Given the description of an element on the screen output the (x, y) to click on. 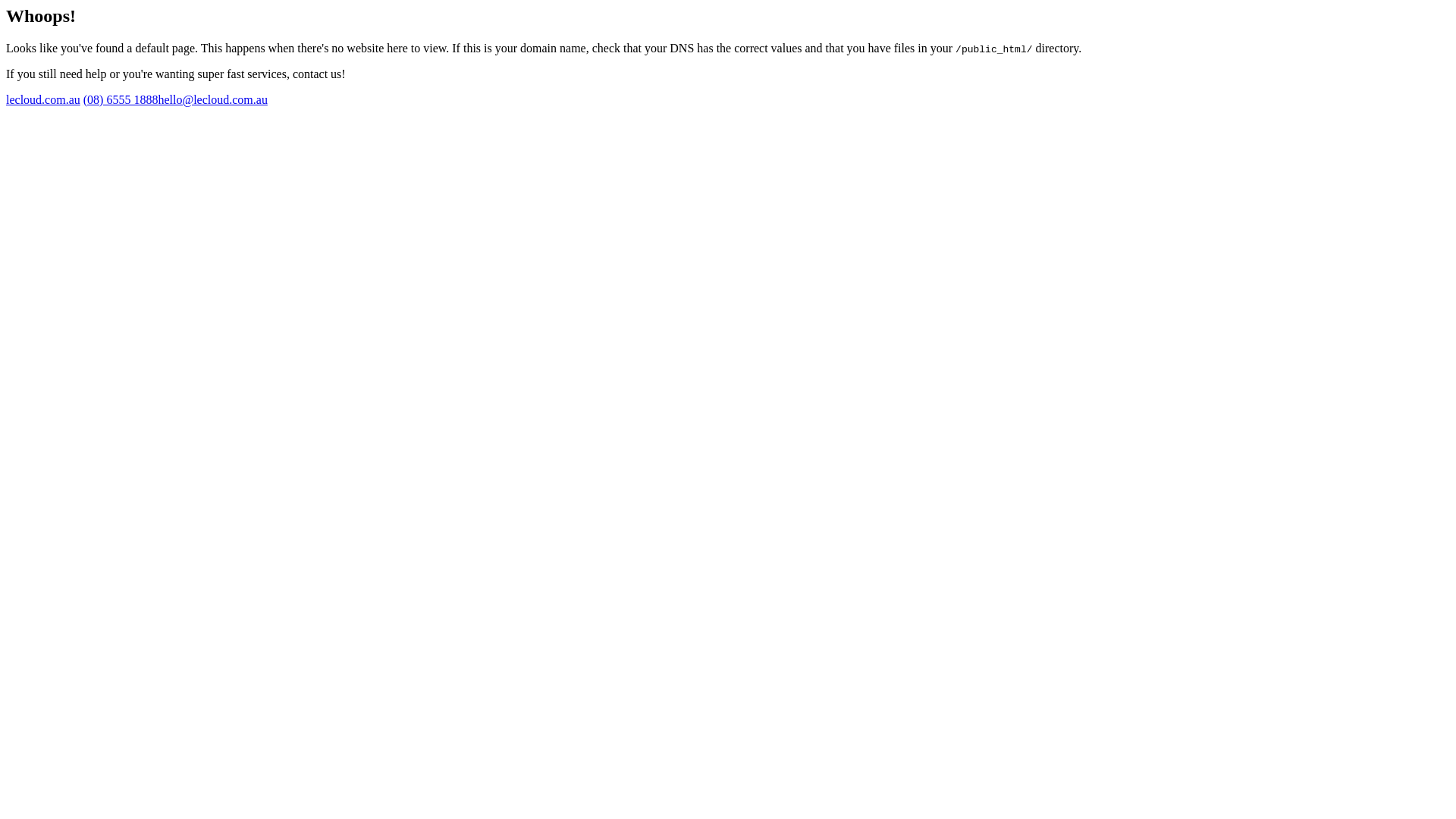
lecloud.com.au Element type: text (43, 99)
(08) 6555 1888 Element type: text (120, 99)
hello@lecloud.com.au Element type: text (211, 99)
